Given the description of an element on the screen output the (x, y) to click on. 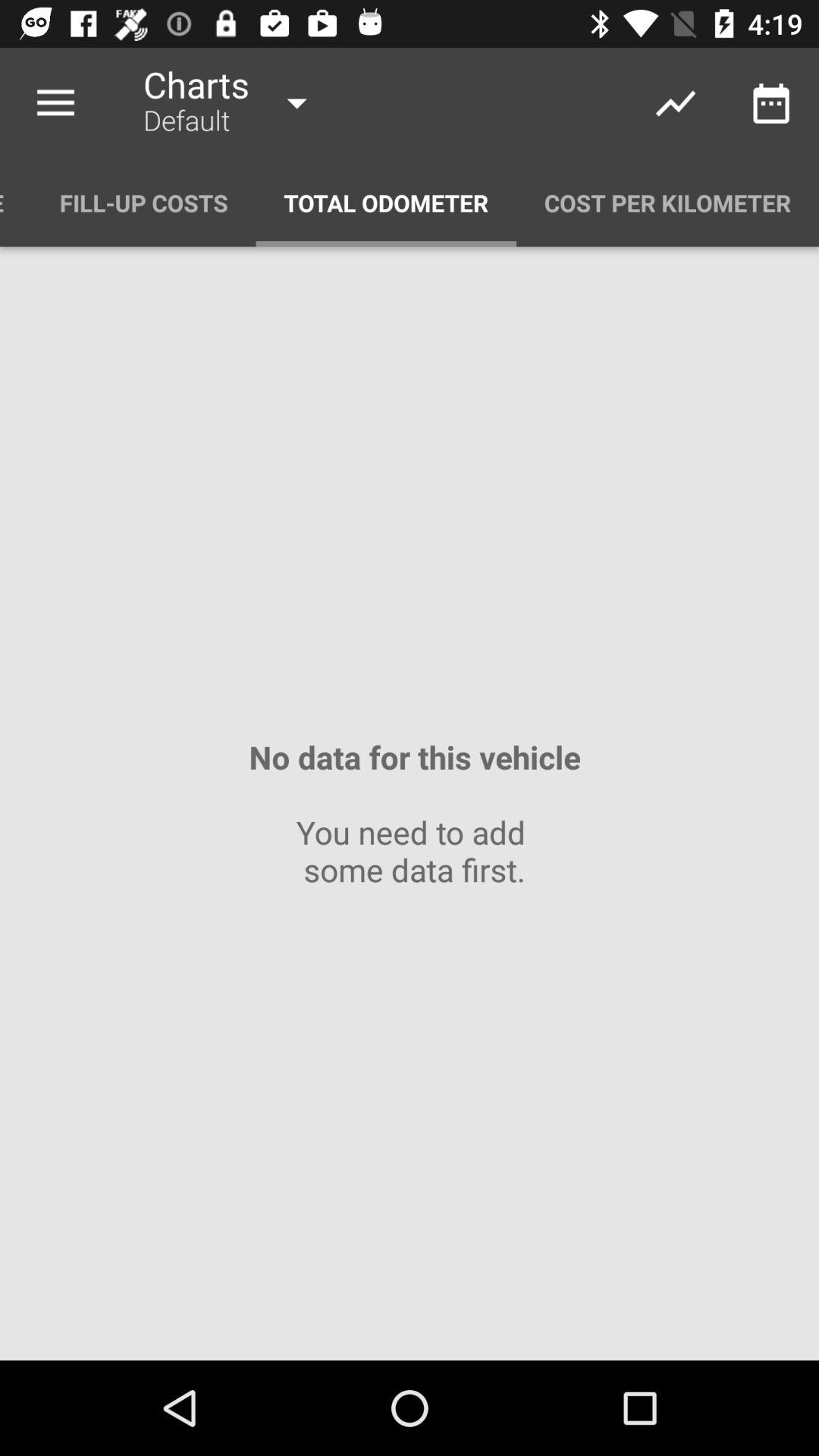
turn off the icon to the left of the cost per kilometer (385, 202)
